Given the description of an element on the screen output the (x, y) to click on. 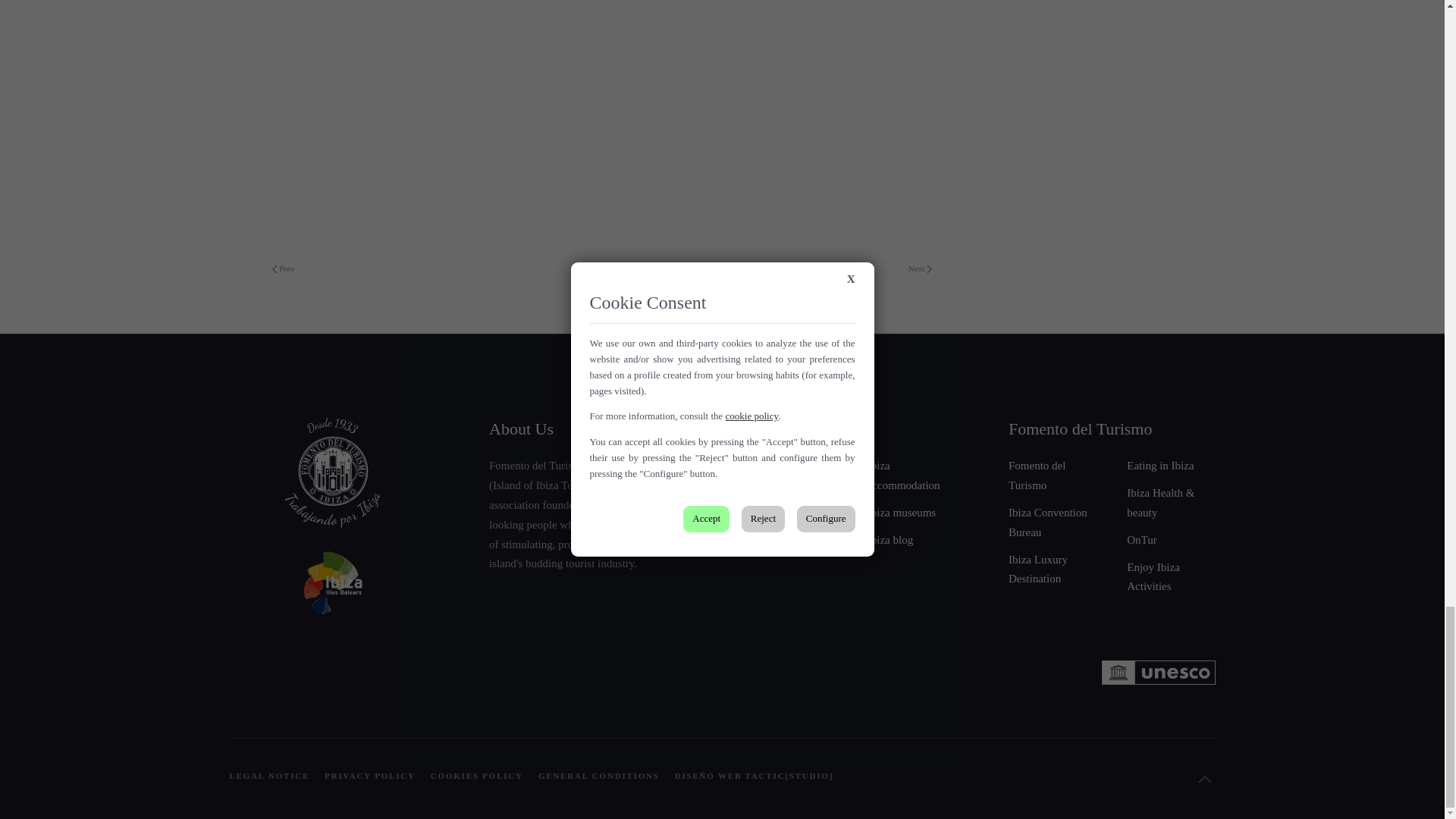
Back to Top (1203, 779)
